Given the description of an element on the screen output the (x, y) to click on. 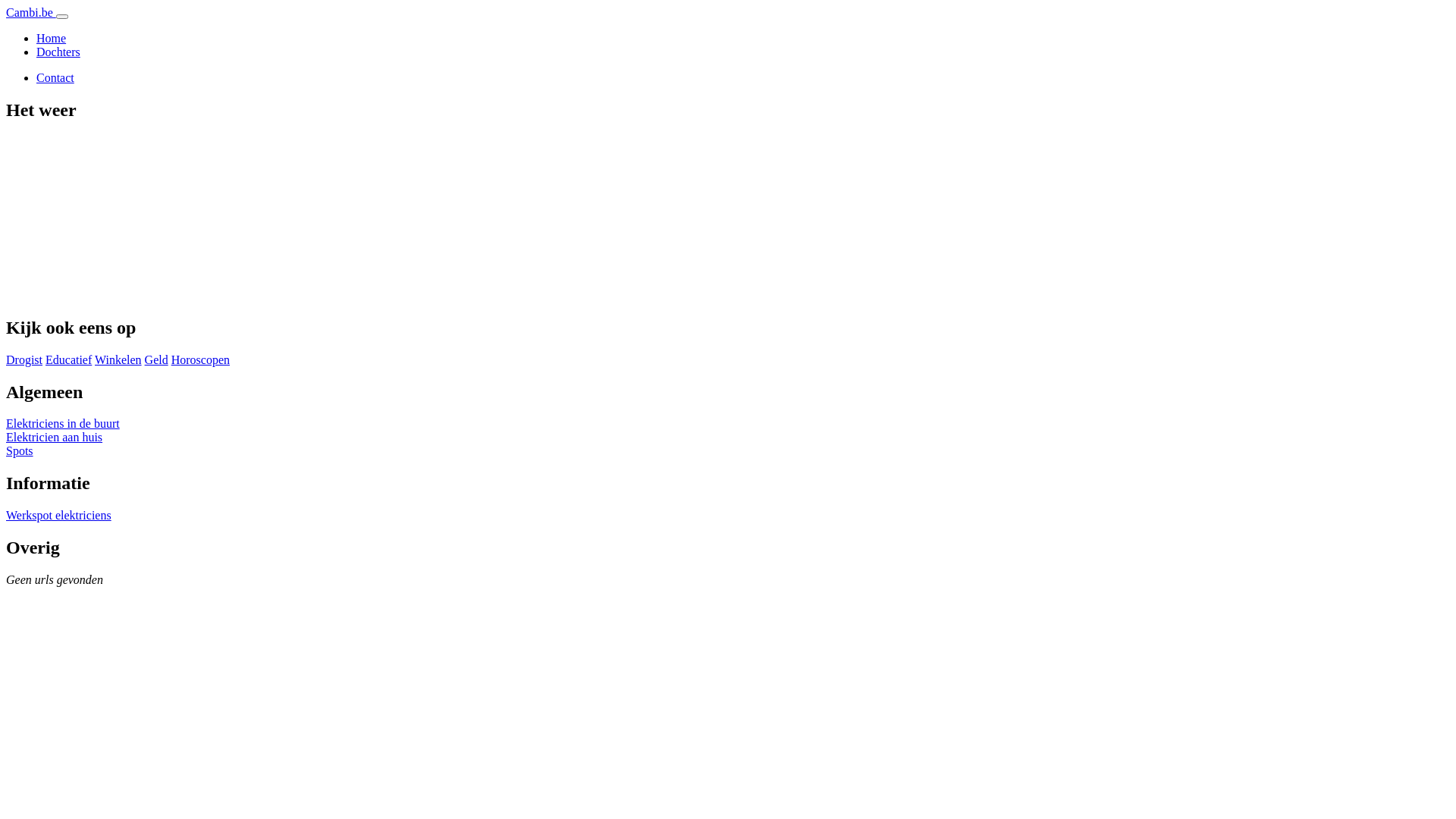
Drogist Element type: text (24, 359)
Geld Element type: text (156, 359)
Spots Element type: text (19, 450)
Elektricien aan huis Element type: text (54, 436)
Dochters Element type: text (58, 51)
Cambi.be Element type: text (31, 12)
Werkspot elektriciens Element type: text (58, 514)
Horoscopen Element type: text (200, 359)
Elektriciens in de buurt Element type: text (62, 423)
Contact Element type: text (55, 77)
Home Element type: text (50, 37)
Winkelen Element type: text (117, 359)
Educatief Element type: text (68, 359)
